Given the description of an element on the screen output the (x, y) to click on. 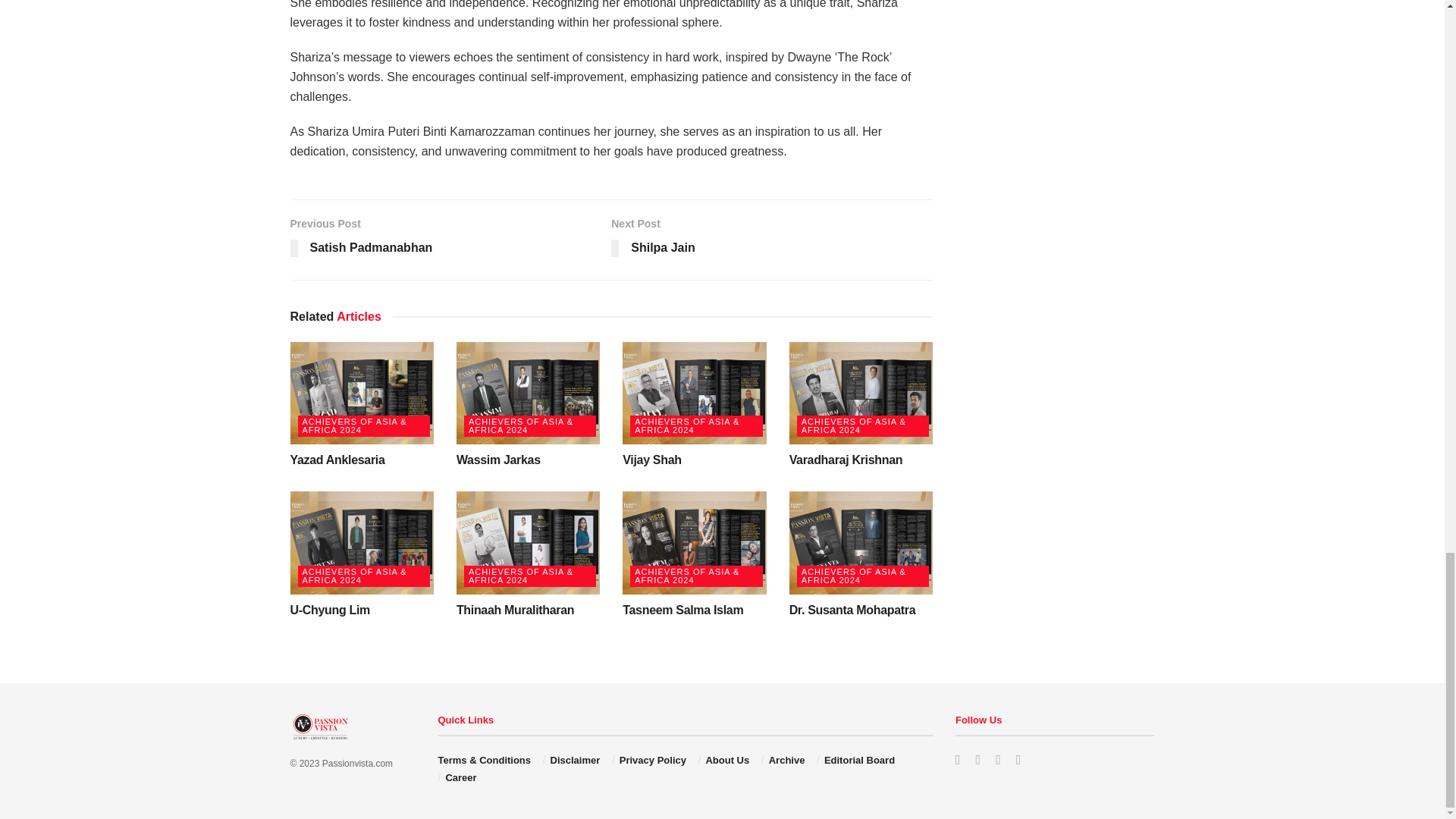
Varadhraj Krishnan Passion Vista Magazine (861, 393)
Vijay Shah Passion Vista Magazine (694, 393)
Wassim Jarkas Passion Vista Magazine (528, 393)
Yazad Anklesaria Passion Vista Magazine (360, 393)
Thinaah Muralitharan Passion Vista Magazine (528, 542)
Dr Susanta Mohapatra Passion Vista Magazine (861, 542)
U Chung Lim Passion Vista Magazine (360, 542)
Tasneem Salma Islam Passion Vista Magazine (694, 542)
